Given the description of an element on the screen output the (x, y) to click on. 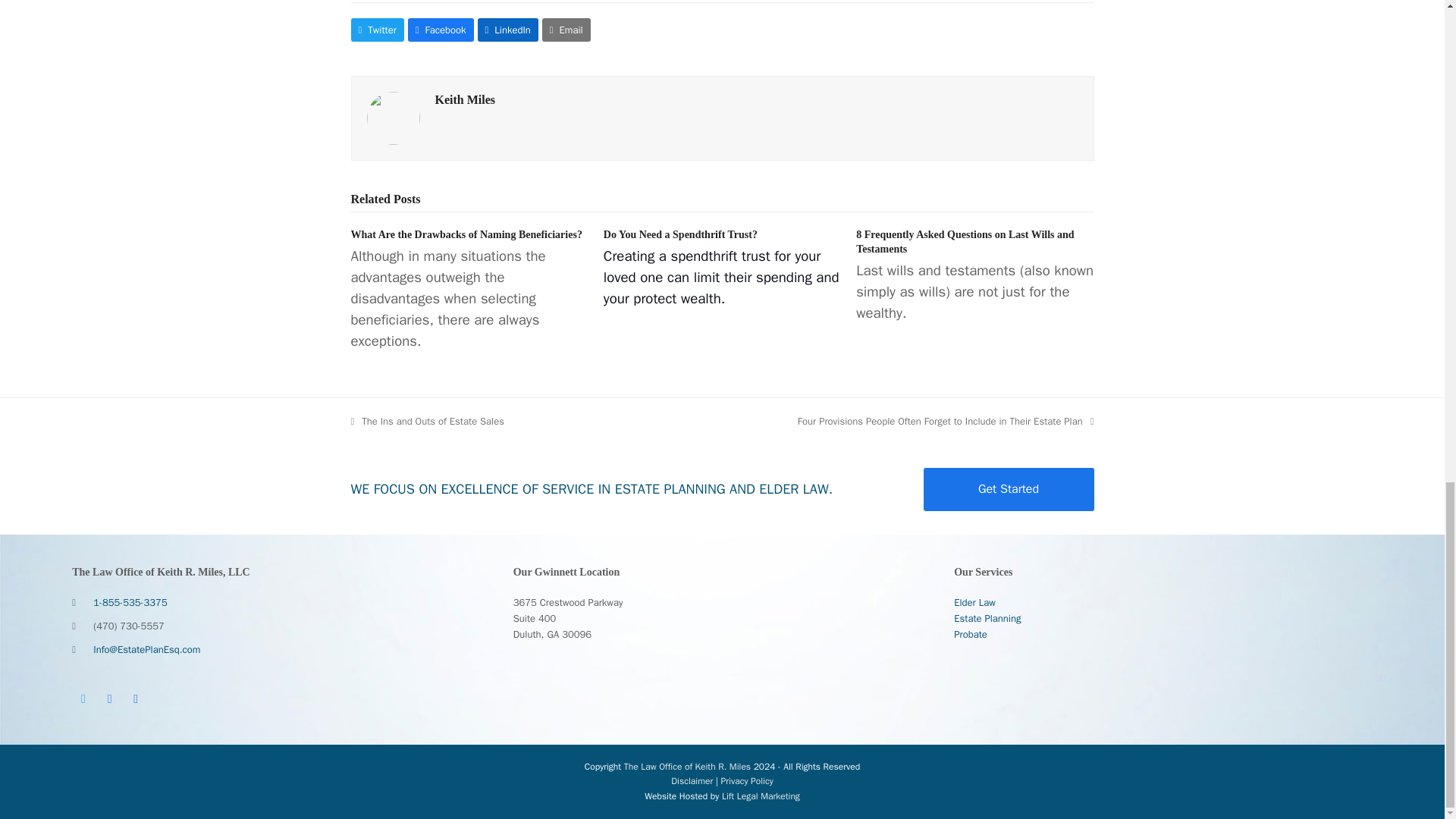
Visit Author Page (465, 99)
Keith Miles (465, 99)
Facebook (109, 698)
Facebook (440, 29)
Twitter (376, 29)
LinkedIn (135, 698)
Email (566, 29)
LinkedIn (507, 29)
Visit Author Page (393, 116)
Twitter (82, 698)
